Given the description of an element on the screen output the (x, y) to click on. 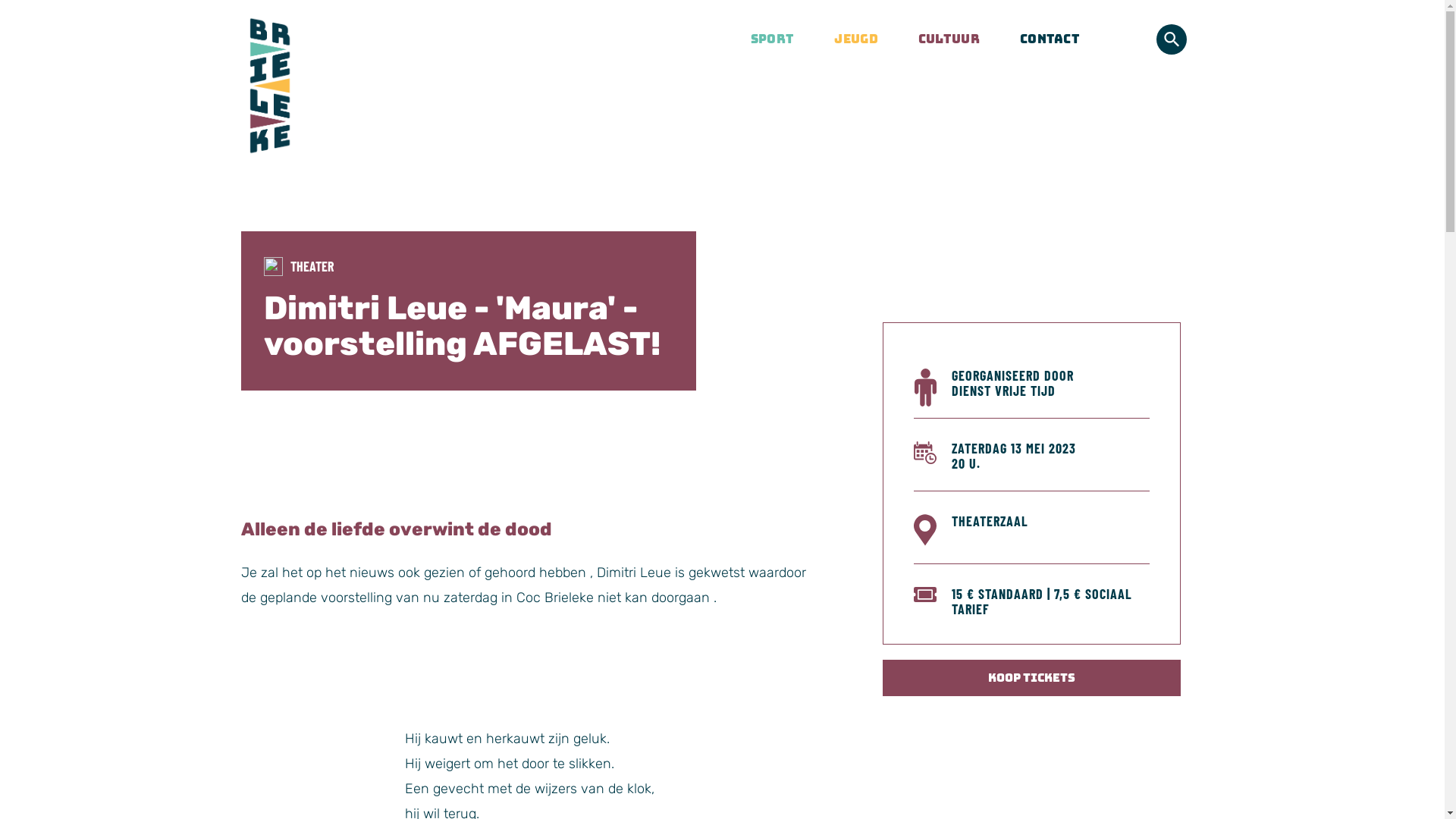
SPORT Element type: text (762, 39)
CONTACT Element type: text (1040, 39)
CULTUUR Element type: text (939, 39)
JEUGD Element type: text (846, 39)
Koop tickets Element type: text (1031, 677)
